Given the description of an element on the screen output the (x, y) to click on. 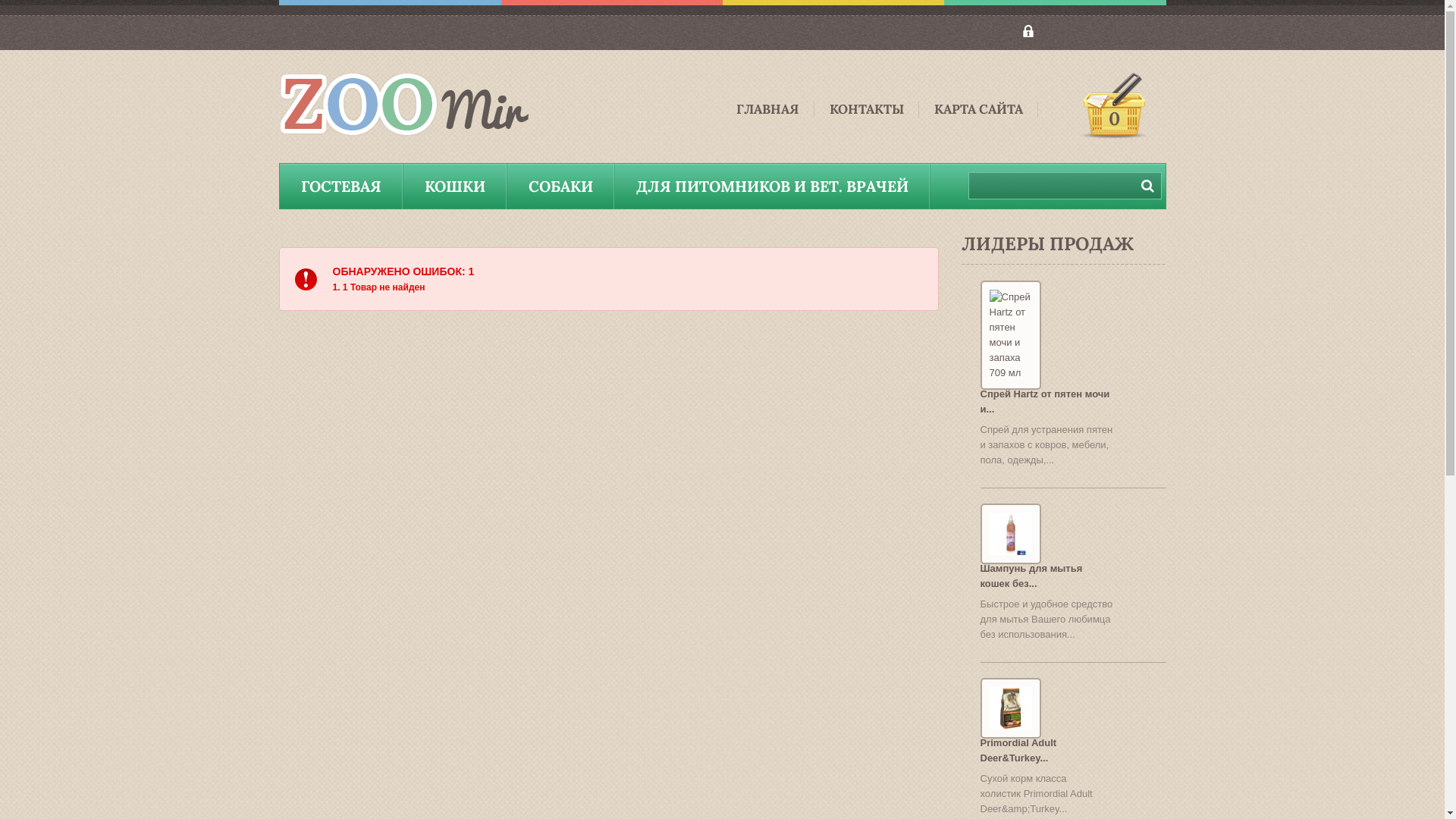
Primordial Adult Deer&Turkey... Element type: text (1017, 750)
0 Element type: text (1112, 105)
Zoomir Element type: hover (411, 105)
